Given the description of an element on the screen output the (x, y) to click on. 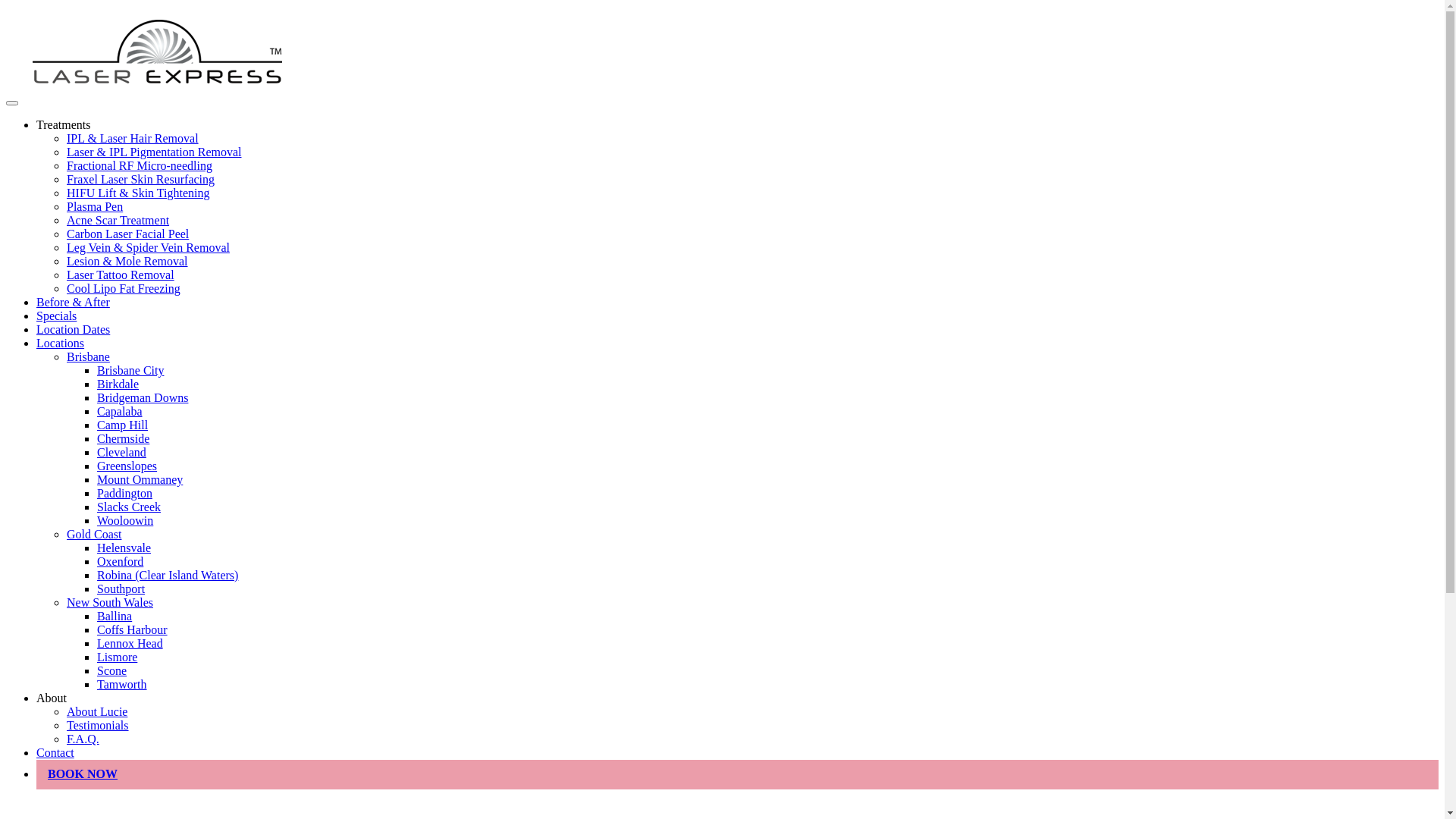
Birkdale Element type: text (117, 383)
Gold Coast Element type: text (93, 533)
Location Dates Element type: text (72, 329)
Carbon Laser Facial Peel Element type: text (127, 233)
Scone Element type: text (111, 670)
Camp Hill Element type: text (122, 424)
Before & After Element type: text (72, 301)
Oxenford Element type: text (120, 561)
Paddington Element type: text (124, 492)
Greenslopes Element type: text (126, 465)
BOOK NOW Element type: text (82, 773)
Brisbane Element type: text (87, 356)
Fractional RF Micro-needling Element type: text (139, 165)
Lismore Element type: text (117, 656)
Leg Vein & Spider Vein Removal Element type: text (147, 247)
Cool Lipo Fat Freezing Element type: text (123, 288)
Treatments Element type: text (63, 124)
Locations Element type: text (60, 342)
Capalaba Element type: text (119, 410)
Ballina Element type: text (114, 615)
Cleveland Element type: text (121, 451)
Laser & IPL Pigmentation Removal Element type: text (153, 151)
Acne Scar Treatment Element type: text (117, 219)
Tamworth Element type: text (122, 683)
Lennox Head Element type: text (130, 643)
Fraxel Laser Skin Resurfacing Element type: text (140, 178)
Slacks Creek Element type: text (128, 506)
F.A.Q. Element type: text (82, 738)
Contact Element type: text (55, 752)
Wooloowin Element type: text (125, 520)
Lesion & Mole Removal Element type: text (127, 260)
Testimonials Element type: text (97, 724)
New South Wales Element type: text (109, 602)
About Lucie Element type: text (96, 711)
Plasma Pen Element type: text (94, 206)
Bridgeman Downs Element type: text (142, 397)
About Element type: text (51, 697)
Helensvale Element type: text (123, 547)
HIFU Lift & Skin Tightening Element type: text (137, 192)
Specials Element type: text (56, 315)
Chermside Element type: text (123, 438)
Mount Ommaney Element type: text (139, 479)
Coffs Harbour Element type: text (132, 629)
Laser Tattoo Removal Element type: text (120, 274)
Brisbane City Element type: text (130, 370)
Southport Element type: text (120, 588)
IPL & Laser Hair Removal Element type: text (132, 137)
Robina (Clear Island Waters) Element type: text (167, 574)
